Given the description of an element on the screen output the (x, y) to click on. 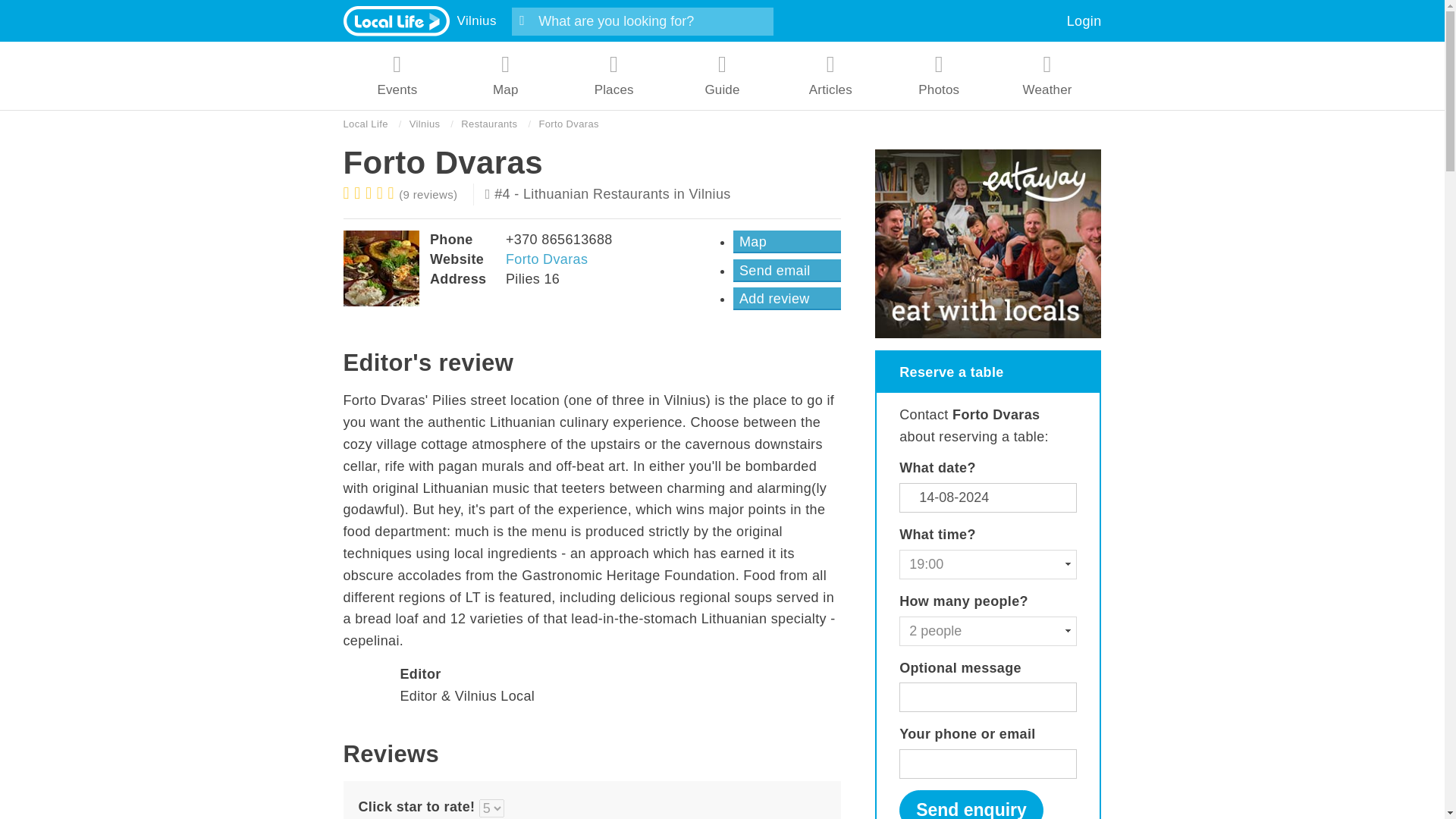
Map (787, 241)
Send enquiry (971, 804)
Restaurants (488, 124)
Local Life (364, 124)
Lithuanian Restaurants in Vilnius (626, 193)
Send email (787, 270)
Login (1084, 20)
14-08-2024 (988, 497)
Add review (787, 298)
Send enquiry (971, 804)
